Given the description of an element on the screen output the (x, y) to click on. 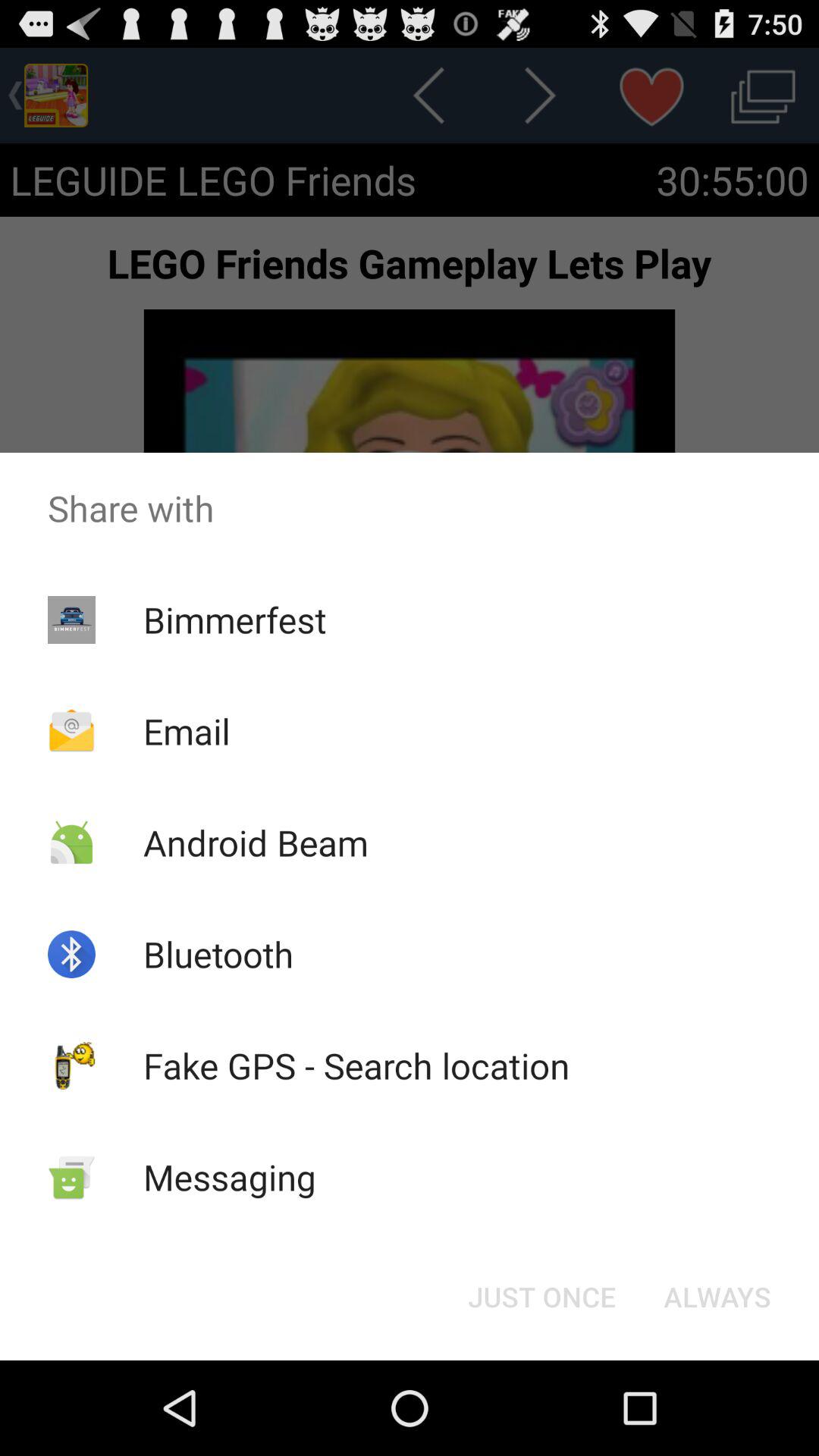
swipe until fake gps search (356, 1065)
